Given the description of an element on the screen output the (x, y) to click on. 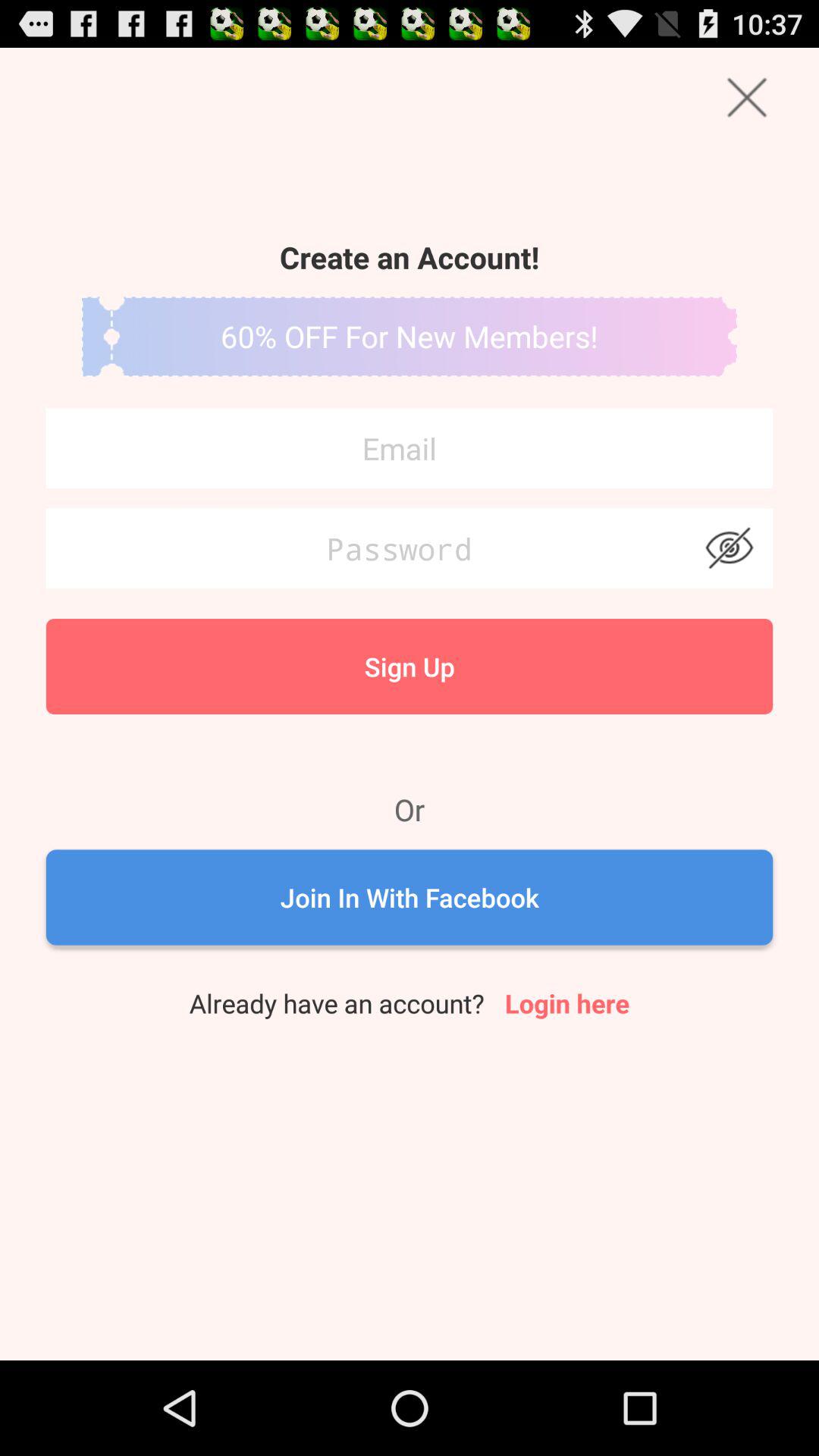
type your email (409, 448)
